Given the description of an element on the screen output the (x, y) to click on. 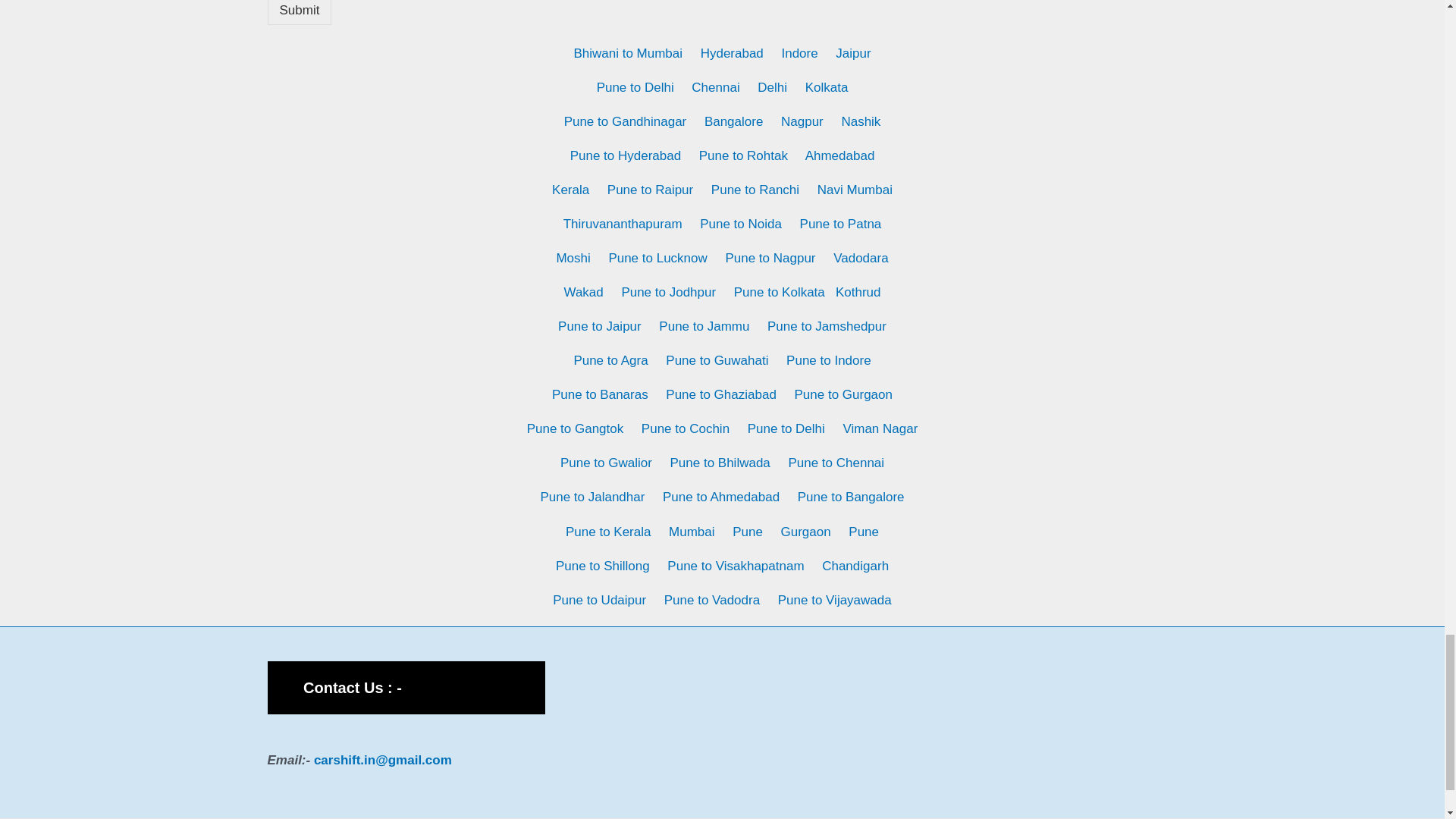
Delhi (772, 87)
Submit (298, 12)
Pune to Gandhinagar (625, 121)
Pune to Hyderabad (625, 155)
Nagpur (802, 121)
Chennai (715, 87)
Pune to Rohtak (742, 155)
Jaipur (852, 52)
Bhiwani to Mumbai (627, 52)
Pune to Delhi (635, 87)
Nashik (860, 121)
Kolkata (826, 87)
Bangalore (733, 121)
Indore (798, 52)
Hyderabad (731, 52)
